Given the description of an element on the screen output the (x, y) to click on. 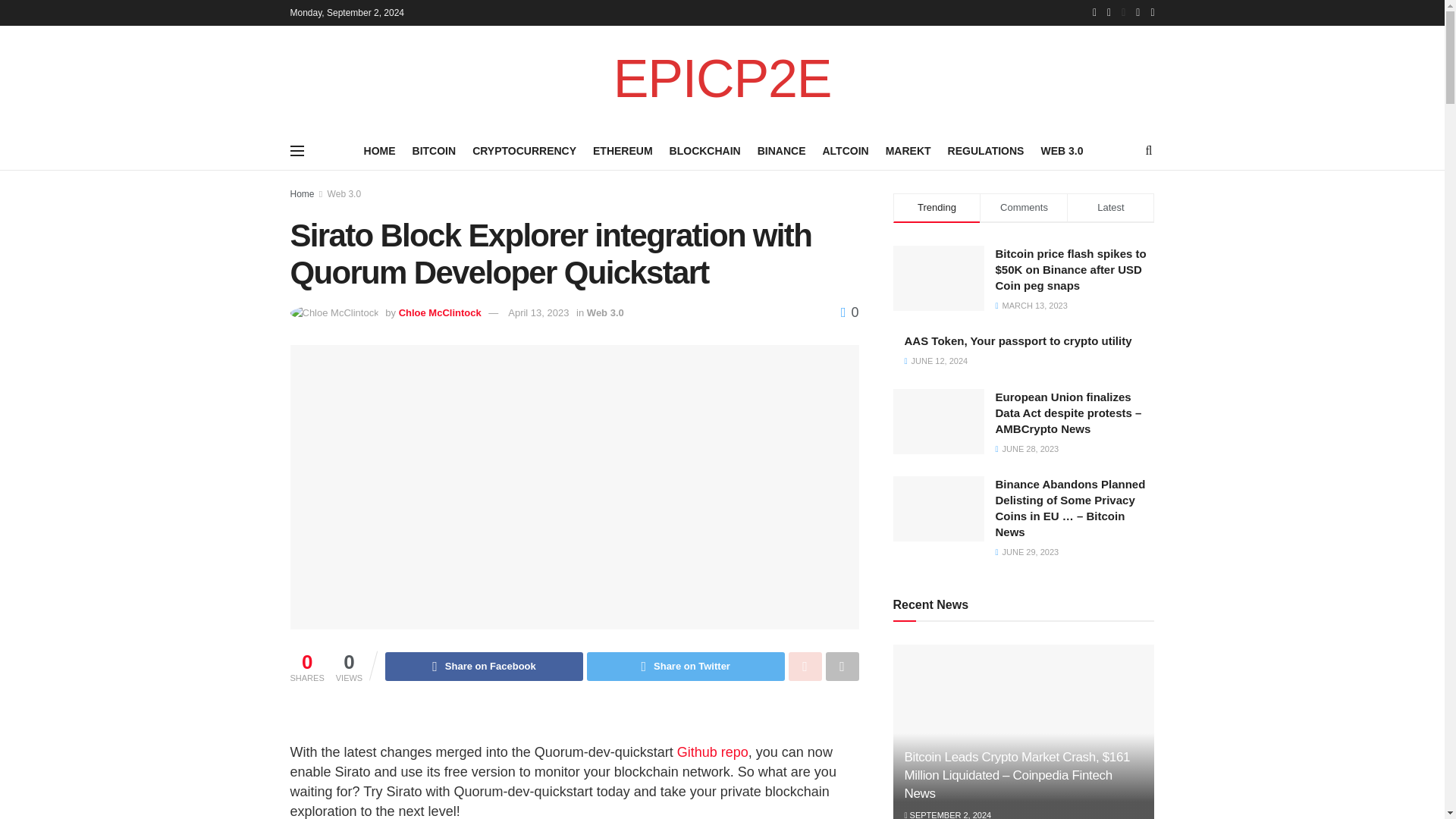
Share on Twitter (685, 665)
MAREKT (908, 150)
Home (301, 194)
BITCOIN (434, 150)
WEB 3.0 (1062, 150)
April 13, 2023 (538, 312)
Github repo (712, 752)
CRYPTOCURRENCY (523, 150)
BLOCKCHAIN (705, 150)
Web 3.0 (605, 312)
